Given the description of an element on the screen output the (x, y) to click on. 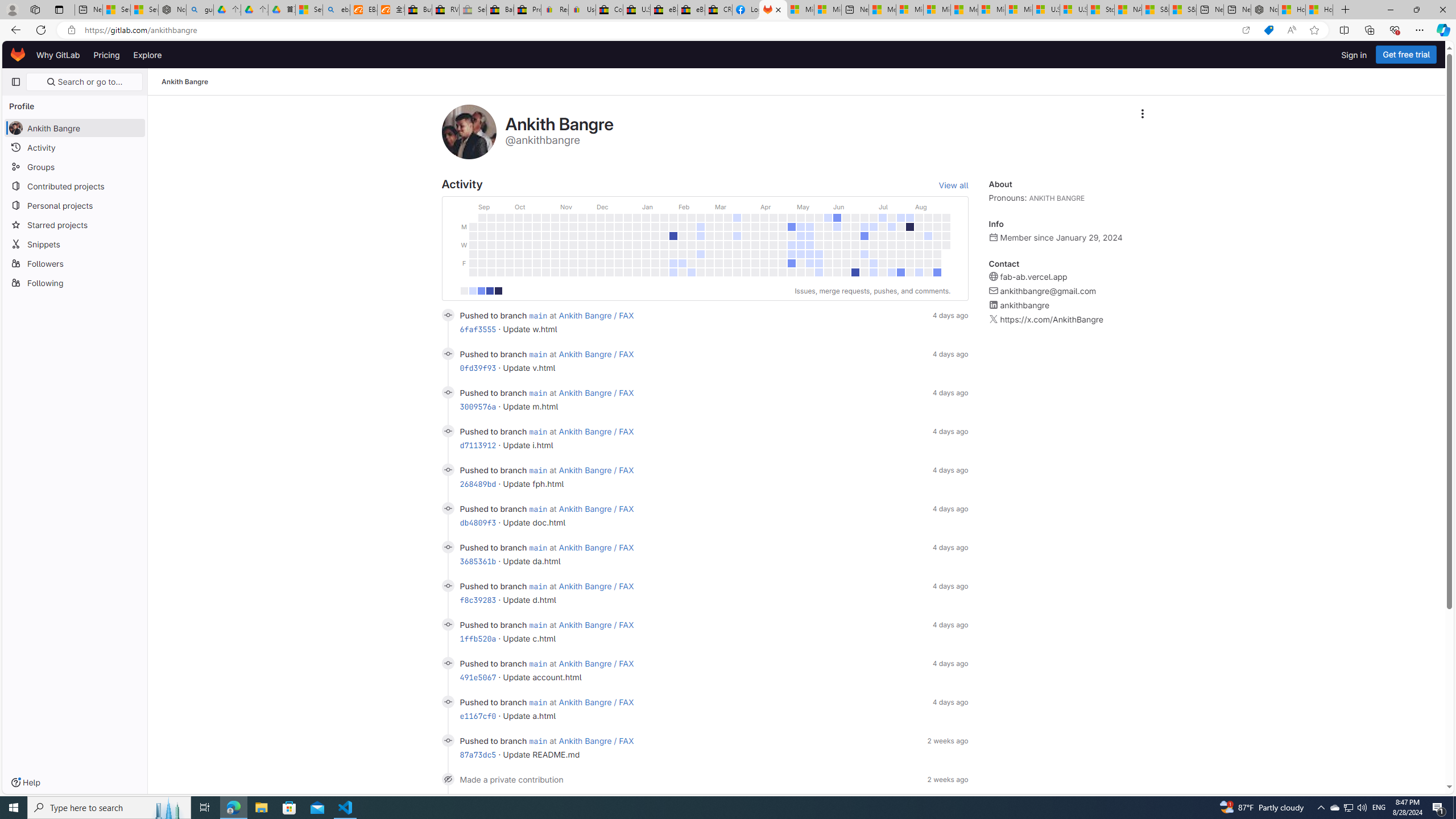
Ankith Bangre (184, 81)
491e5067 (478, 677)
RV, Trailer & Camper Steps & Ladders for sale | eBay (445, 9)
Contributed projects (74, 185)
